Given the description of an element on the screen output the (x, y) to click on. 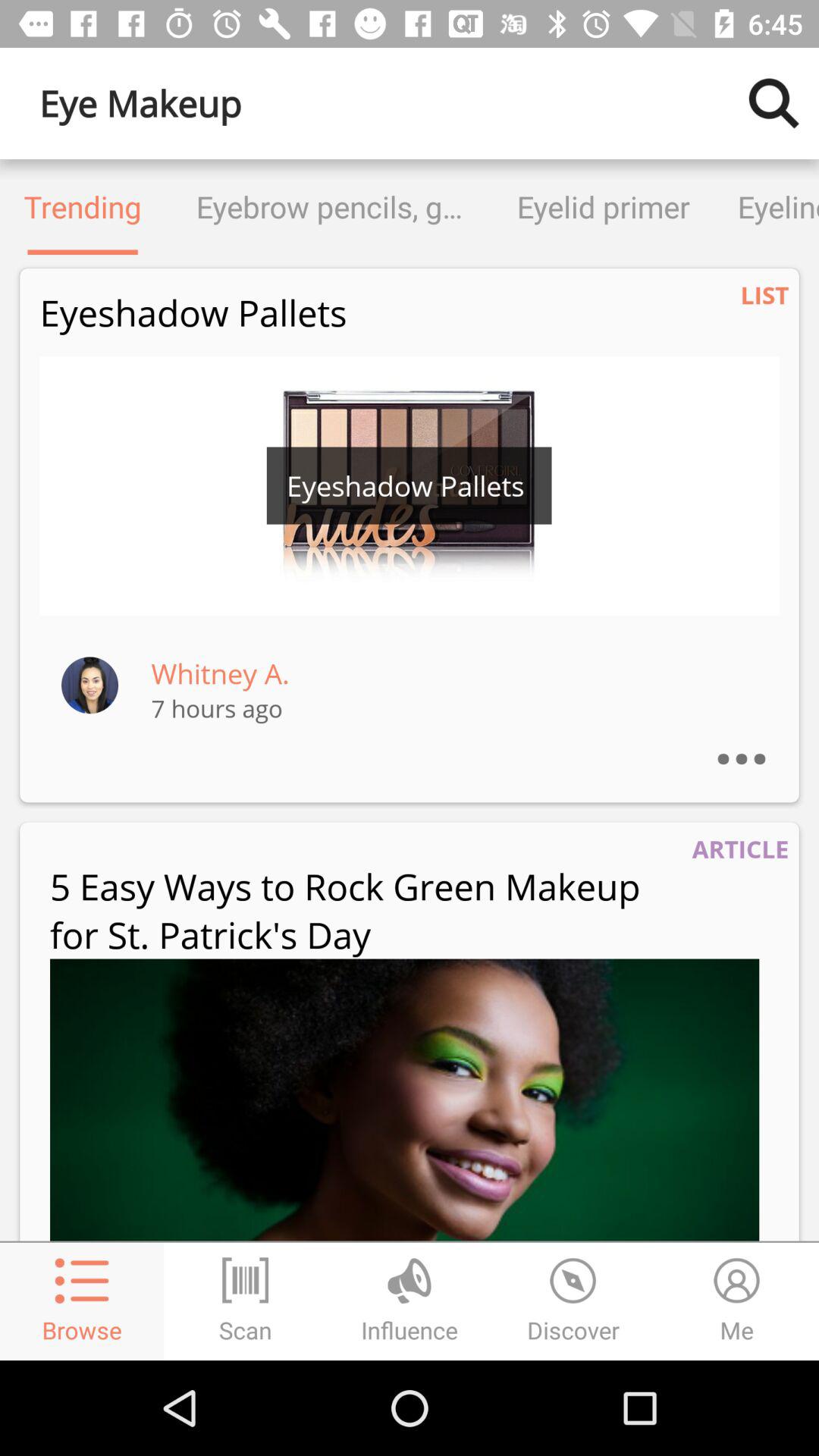
turn on item to the right of eyelid primer (766, 206)
